Given the description of an element on the screen output the (x, y) to click on. 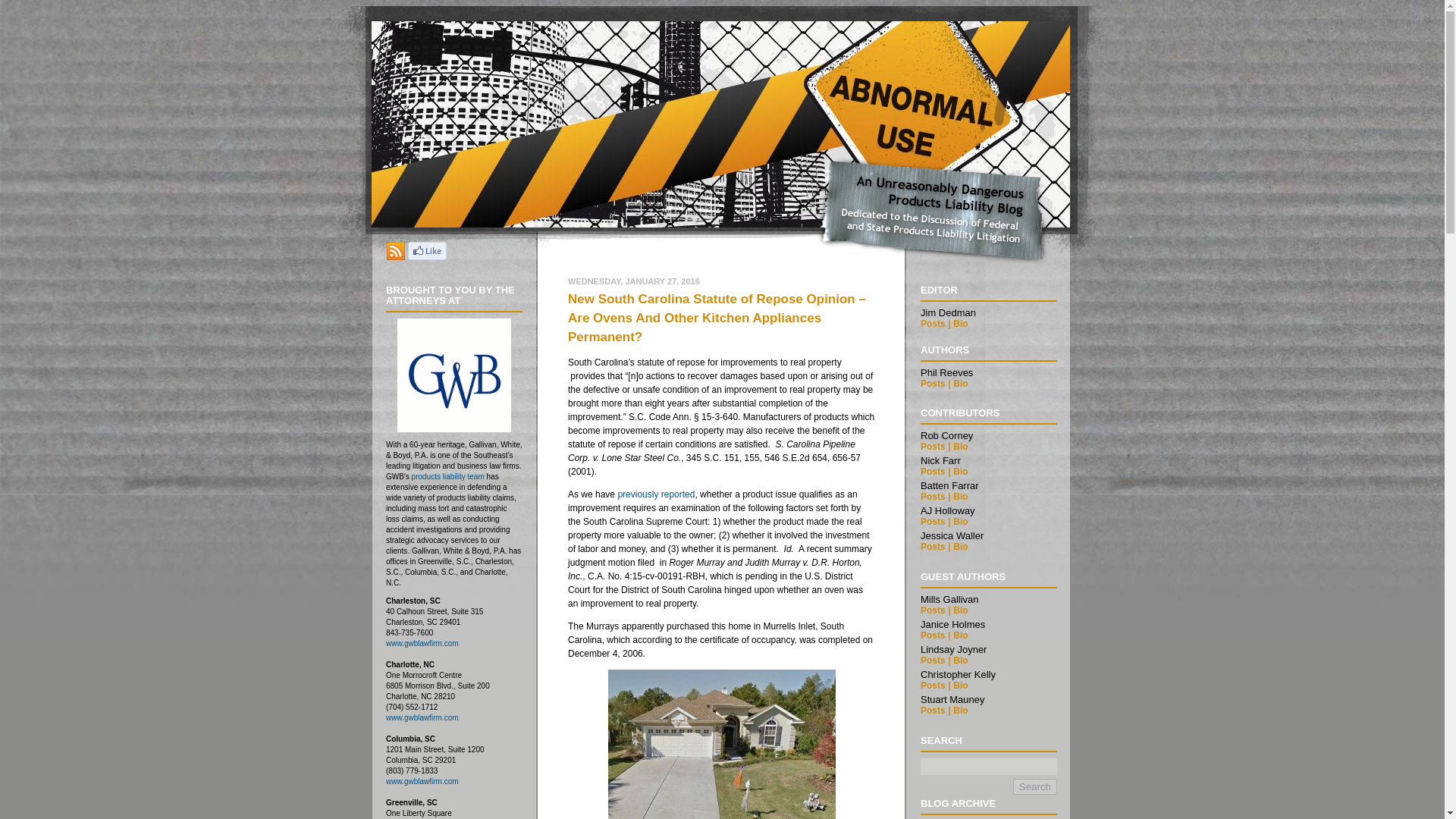
Search (1035, 786)
Abnormal Facebook (426, 255)
products liability team (448, 476)
Abnormal RSS (395, 255)
www.gwblawfirm.com (421, 643)
www.gwblawfirm.com (421, 717)
www.gwblawfirm.com (421, 781)
